Given the description of an element on the screen output the (x, y) to click on. 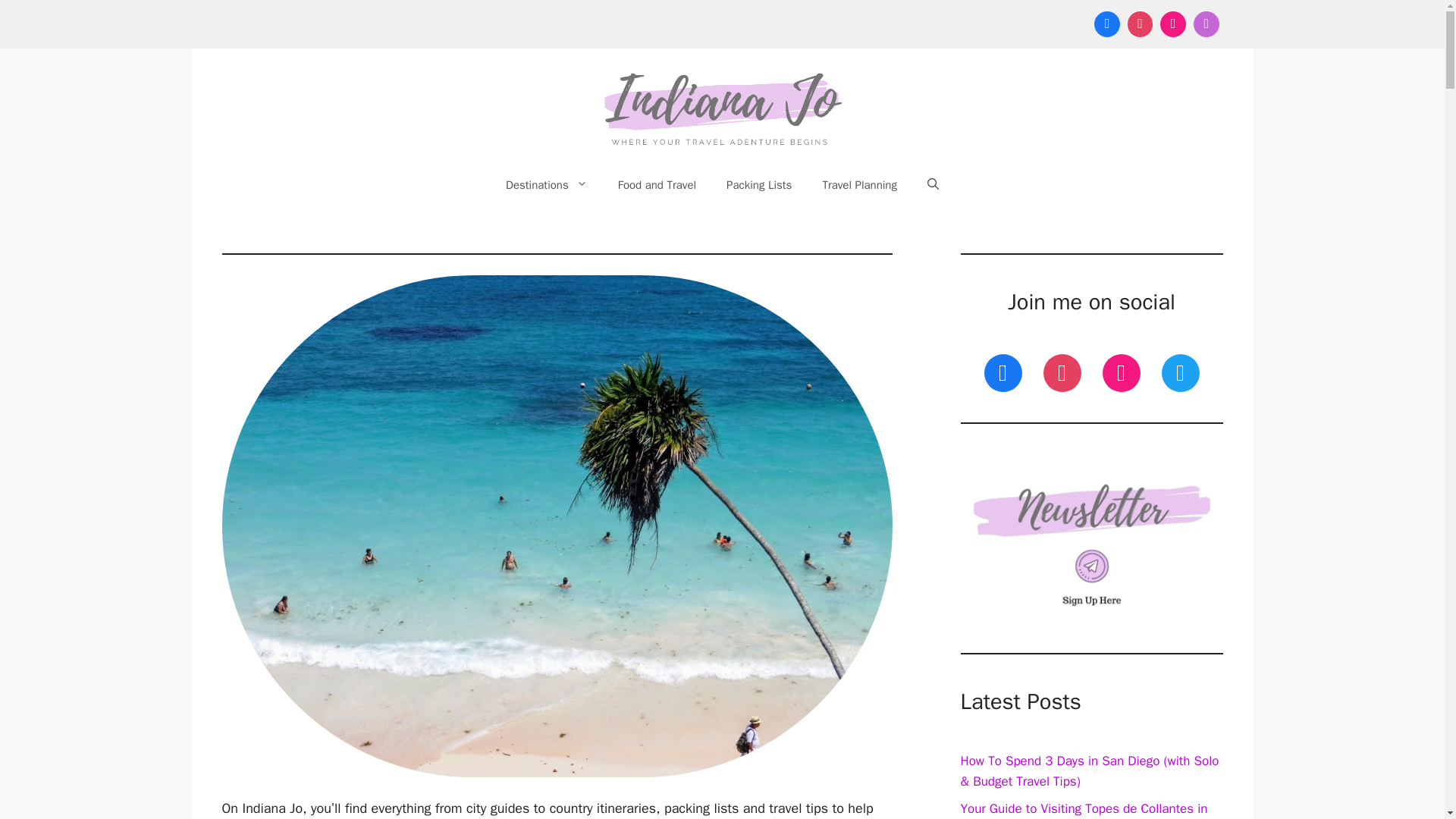
Pinterest (1062, 371)
Instagram (1121, 371)
Facebook (1003, 371)
Facebook (1107, 23)
Telegram (1206, 23)
Twitter (1180, 371)
Pinterest (1140, 23)
Destinations (546, 185)
Instagram (1172, 23)
